Given the description of an element on the screen output the (x, y) to click on. 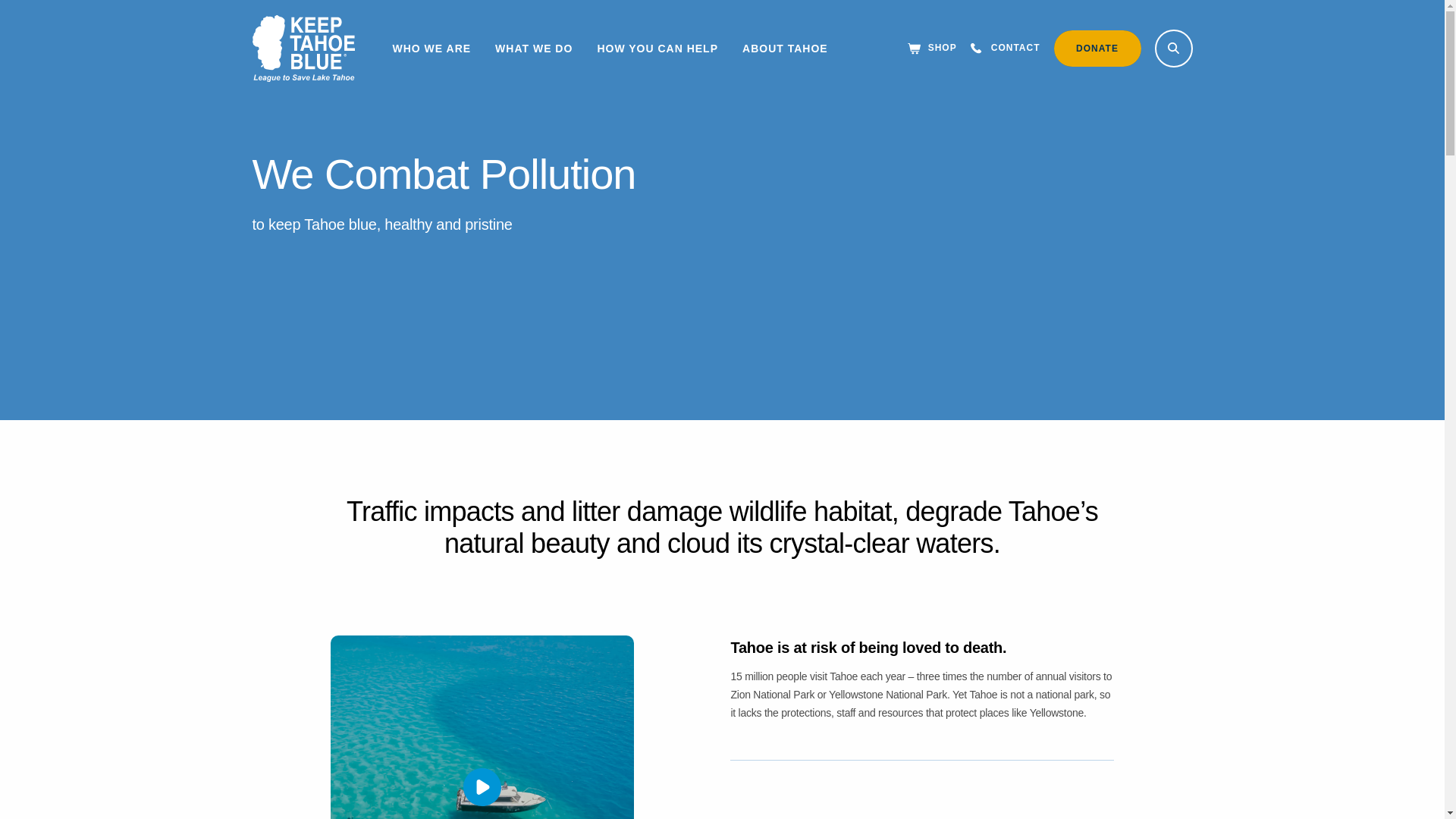
CONTACT (1006, 48)
DONATE (1097, 48)
HOW YOU CAN HELP (656, 48)
SHOP (931, 48)
ABOUT TAHOE (785, 48)
WHAT WE DO (533, 48)
WHO WE ARE (432, 48)
